Given the description of an element on the screen output the (x, y) to click on. 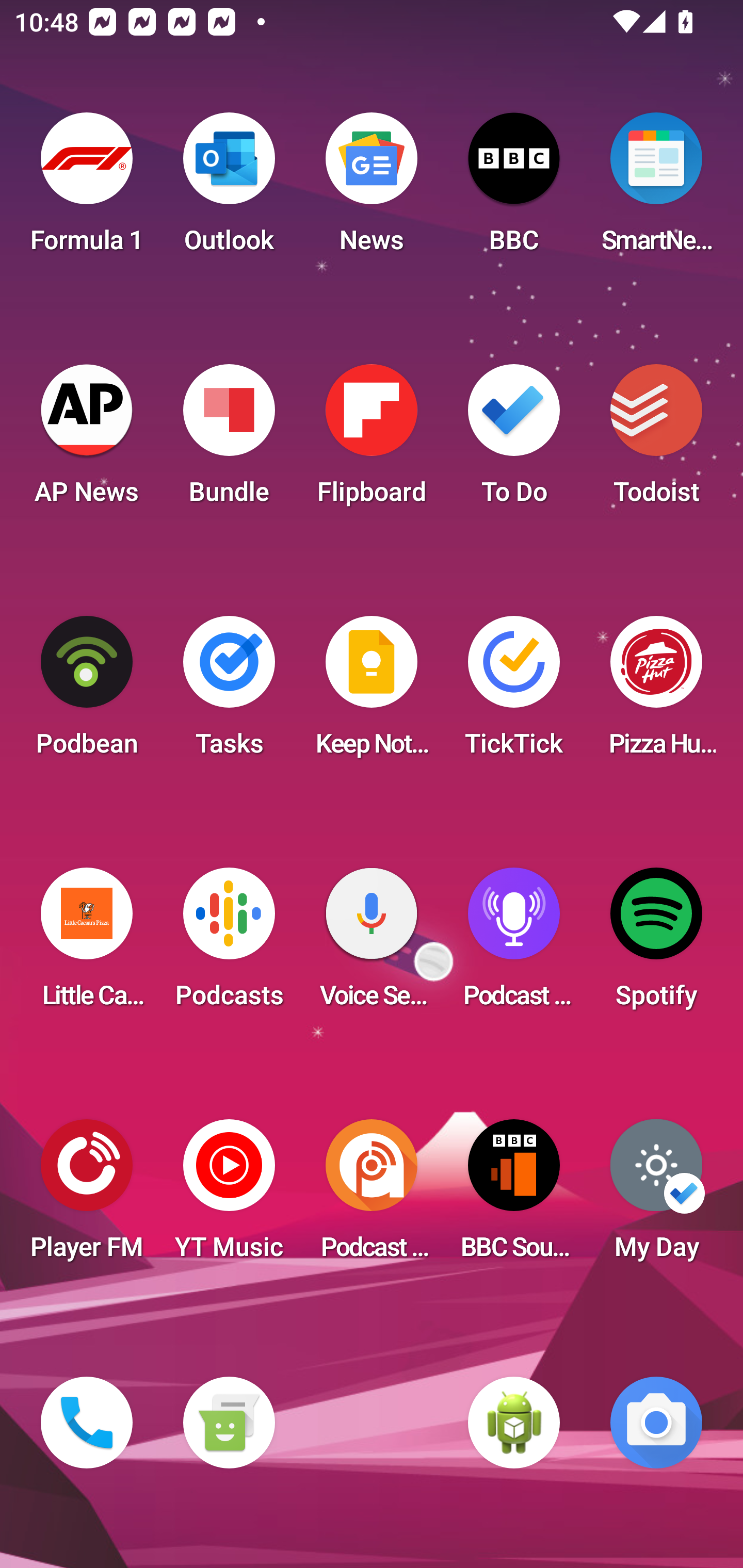
Formula 1 (86, 188)
Outlook (228, 188)
News (371, 188)
BBC (513, 188)
SmartNews (656, 188)
AP News (86, 440)
Bundle (228, 440)
Flipboard (371, 440)
To Do (513, 440)
Todoist (656, 440)
Podbean (86, 692)
Tasks (228, 692)
Keep Notes (371, 692)
TickTick (513, 692)
Pizza Hut HK & Macau (656, 692)
Little Caesars Pizza (86, 943)
Podcasts (228, 943)
Voice Search (371, 943)
Podcast Player (513, 943)
Spotify (656, 943)
Player FM (86, 1195)
YT Music (228, 1195)
Podcast Addict (371, 1195)
BBC Sounds (513, 1195)
My Day (656, 1195)
Phone (86, 1422)
Messaging (228, 1422)
WebView Browser Tester (513, 1422)
Camera (656, 1422)
